Given the description of an element on the screen output the (x, y) to click on. 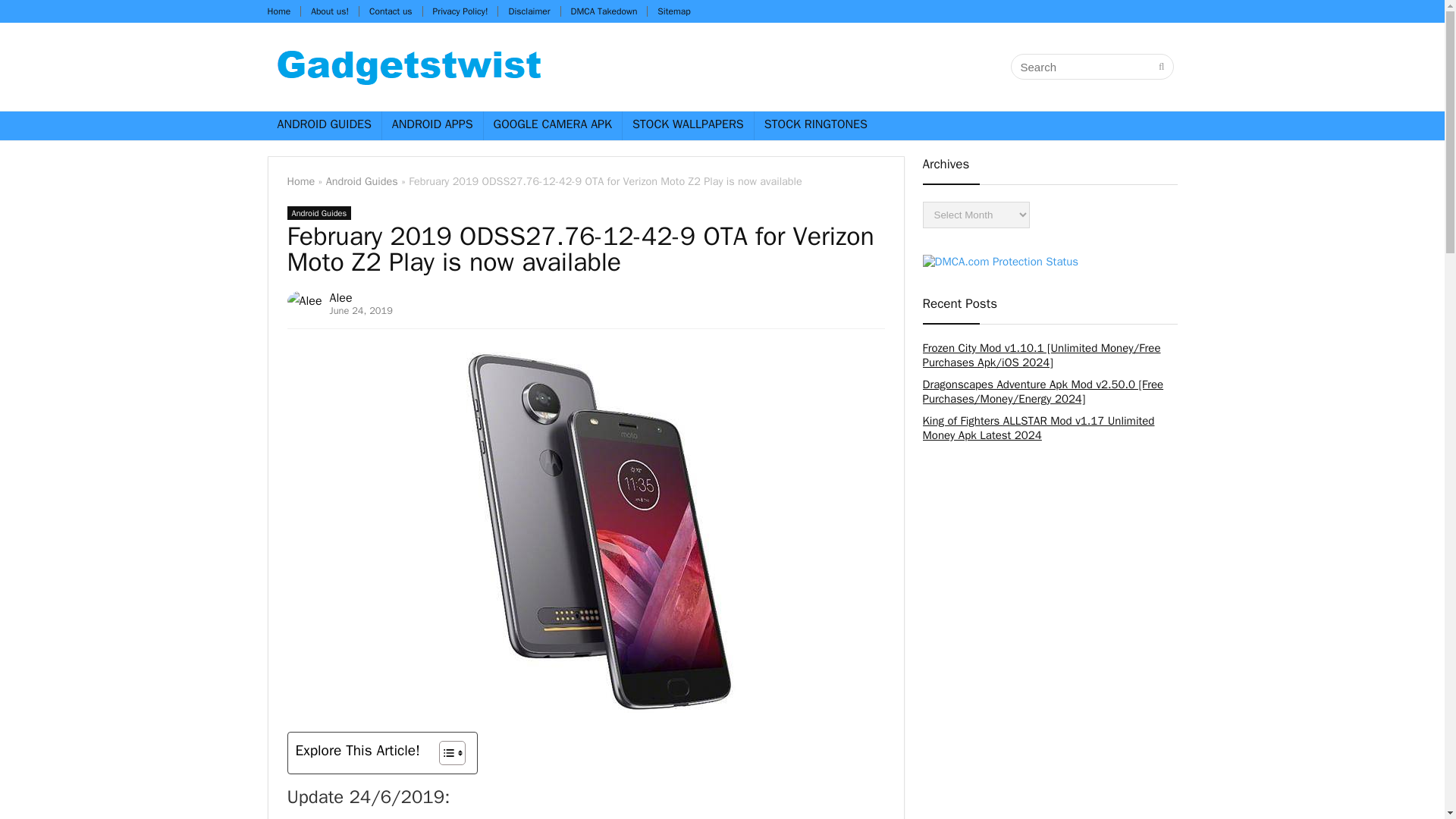
Disclaimer (529, 10)
ANDROID GUIDES (323, 125)
Alee (341, 297)
GOOGLE CAMERA APK (552, 125)
About us! (330, 10)
Home (300, 181)
Privacy Policy! (459, 10)
View all posts in Android Guides (318, 213)
DMCA Takedown (603, 10)
Android Guides (318, 213)
DMCA.com Protection Status (999, 261)
Contact us (390, 10)
Home (277, 10)
STOCK RINGTONES (815, 125)
Sitemap (674, 10)
